Given the description of an element on the screen output the (x, y) to click on. 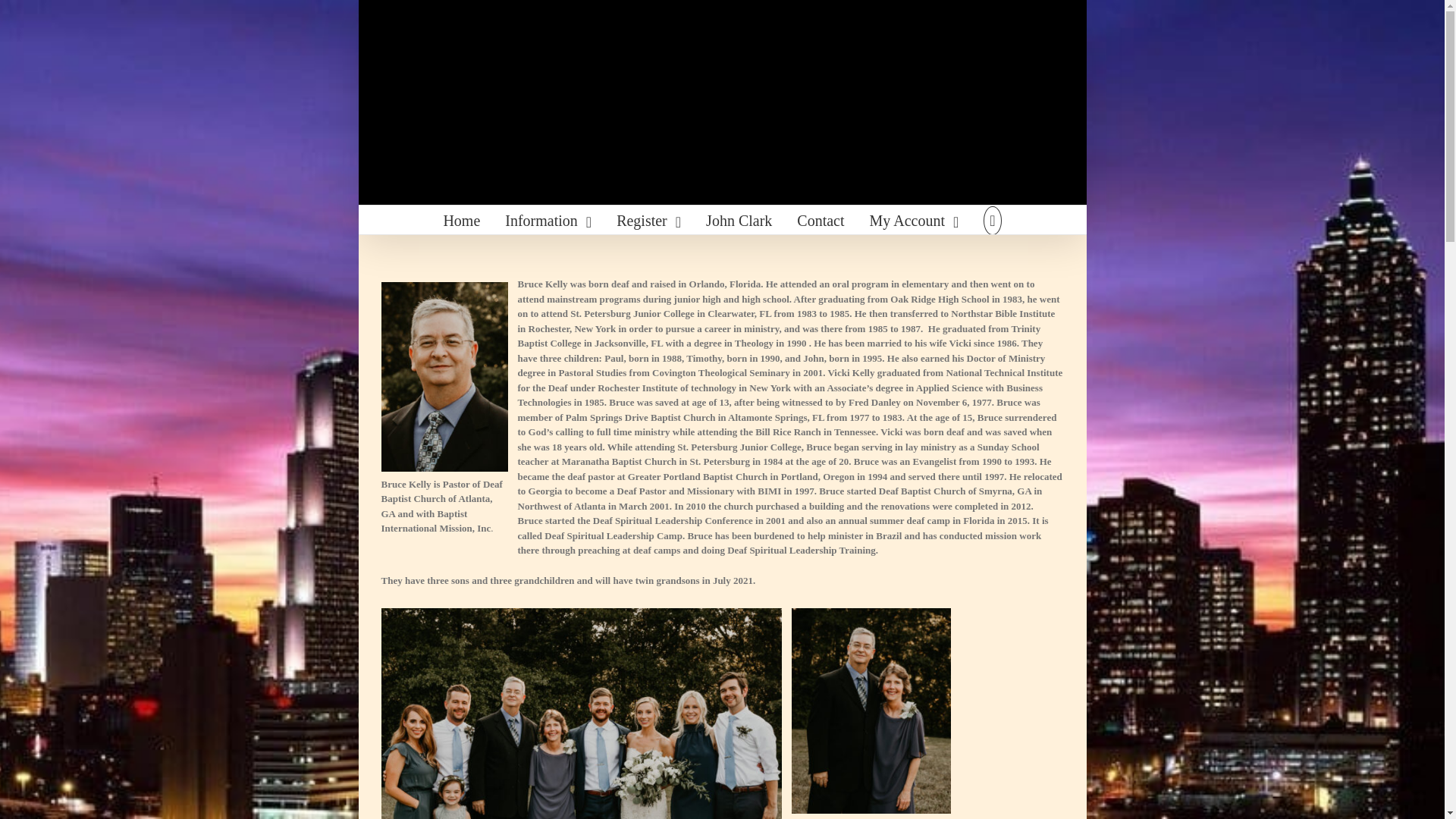
Information (548, 219)
Home (461, 219)
John Clark (738, 219)
Contact (820, 219)
Register (648, 219)
My Account (914, 219)
